Given the description of an element on the screen output the (x, y) to click on. 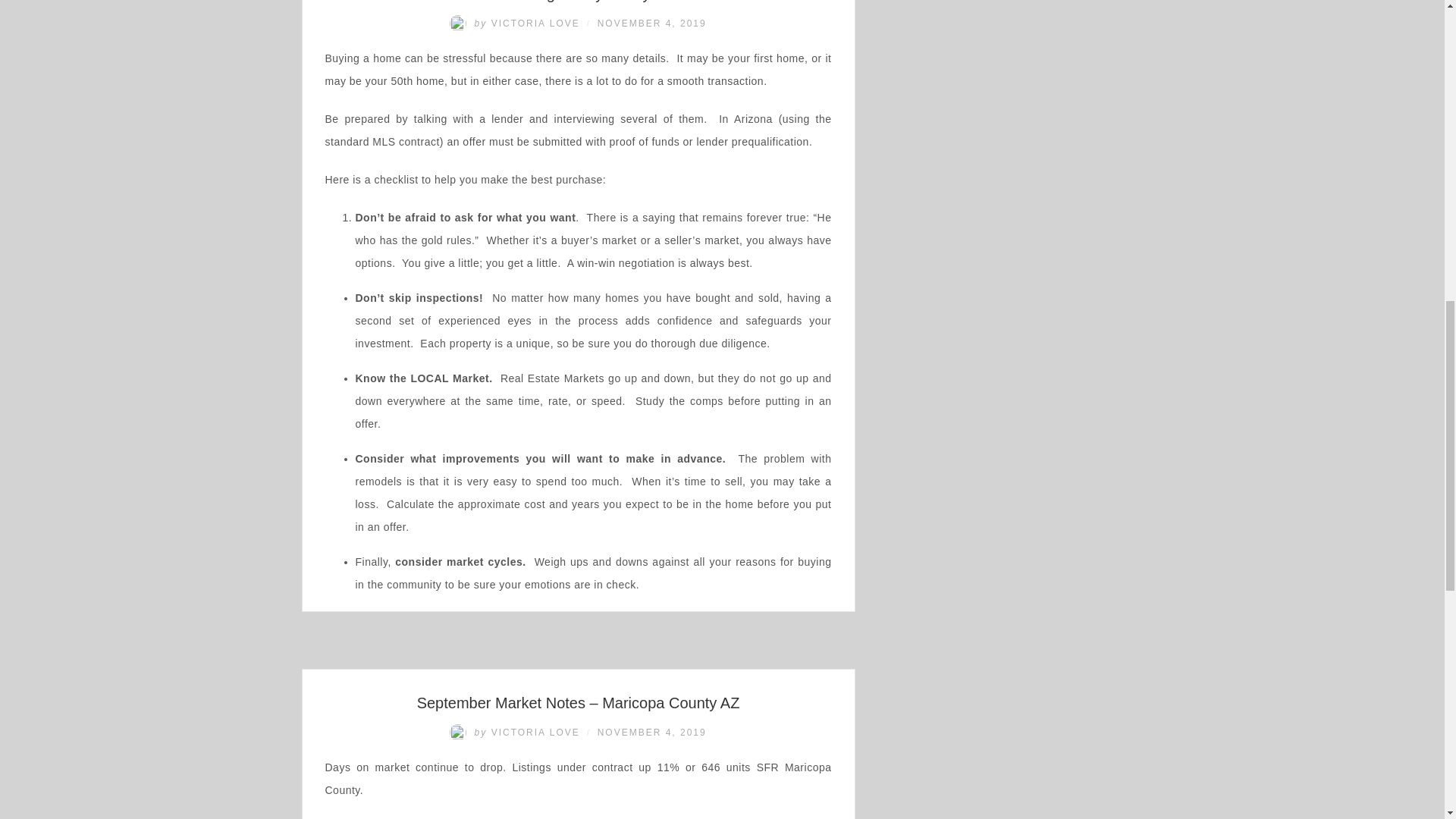
by VICTORIA LOVE (516, 732)
Getting Ready to Buy (577, 1)
by VICTORIA LOVE (516, 23)
NOVEMBER 4, 2019 (651, 23)
NOVEMBER 4, 2019 (651, 732)
